Given the description of an element on the screen output the (x, y) to click on. 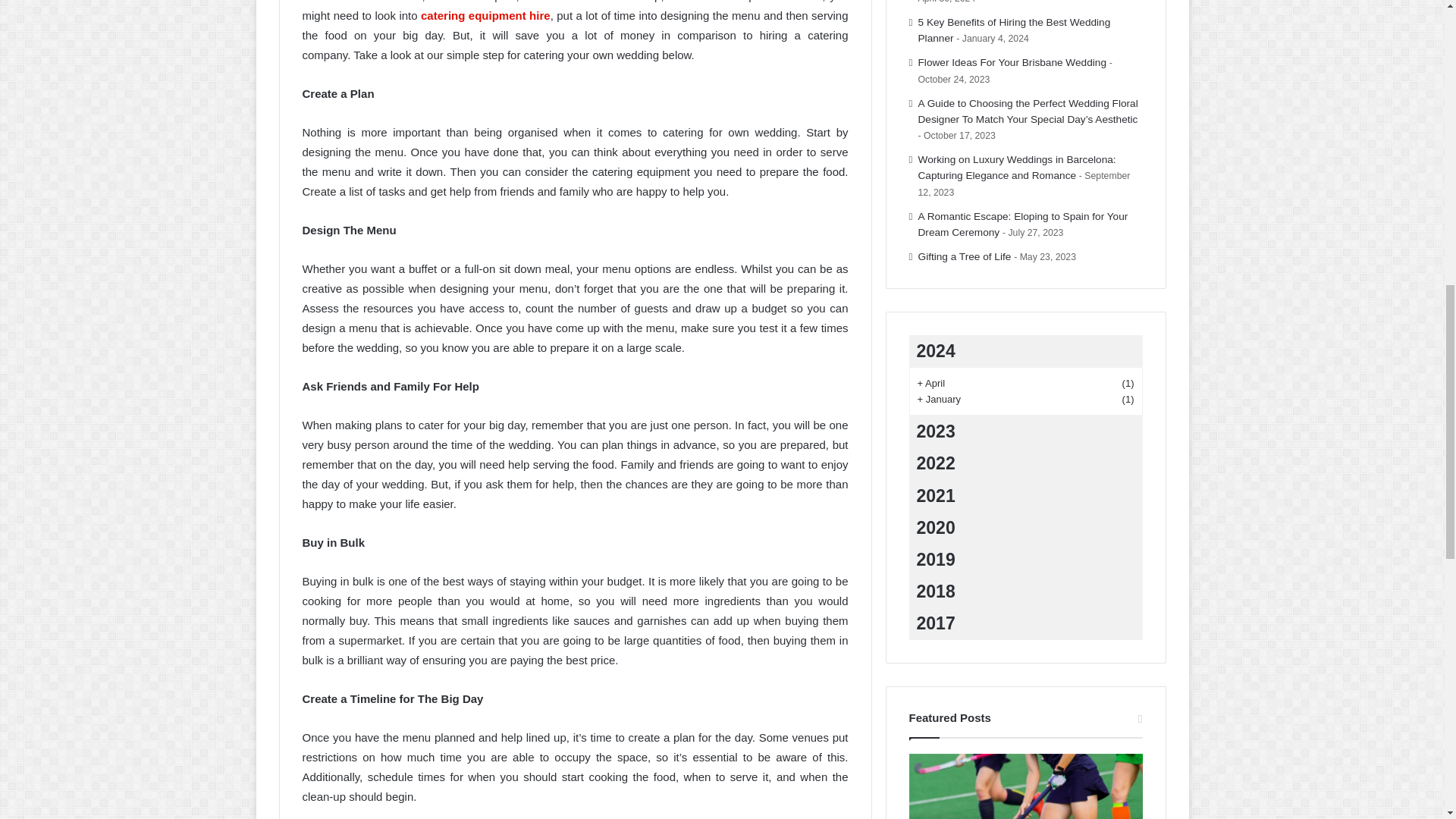
catering equipment hire (485, 15)
